Given the description of an element on the screen output the (x, y) to click on. 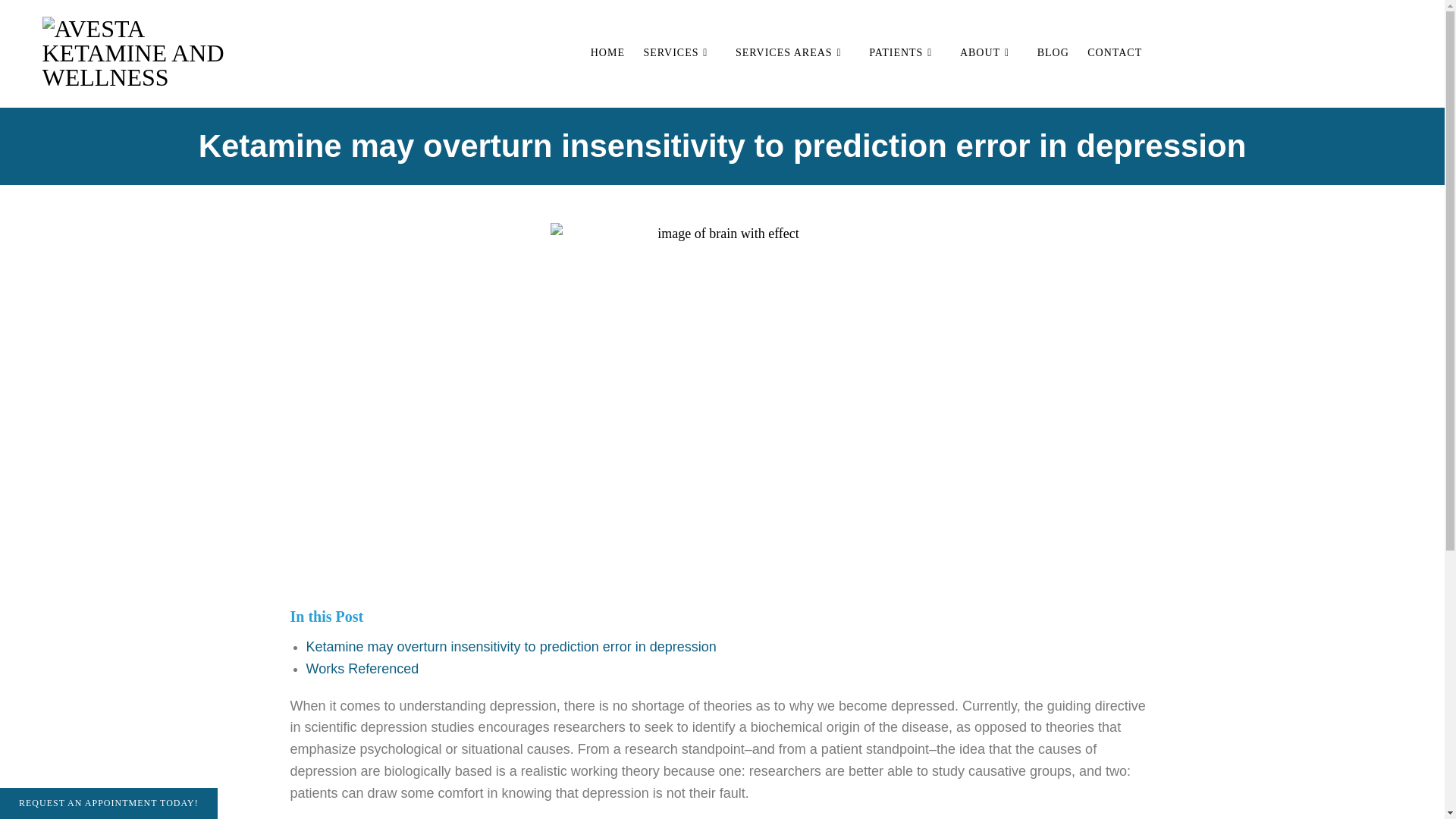
CONTACT (1115, 52)
SERVICES (678, 52)
ABOUT (989, 52)
BLOG (1053, 52)
SERVICES AREAS (793, 52)
HOME (607, 52)
Works Referenced (362, 668)
PATIENTS (905, 52)
REQUEST AN APPOINTMENT TODAY! (108, 803)
